Given the description of an element on the screen output the (x, y) to click on. 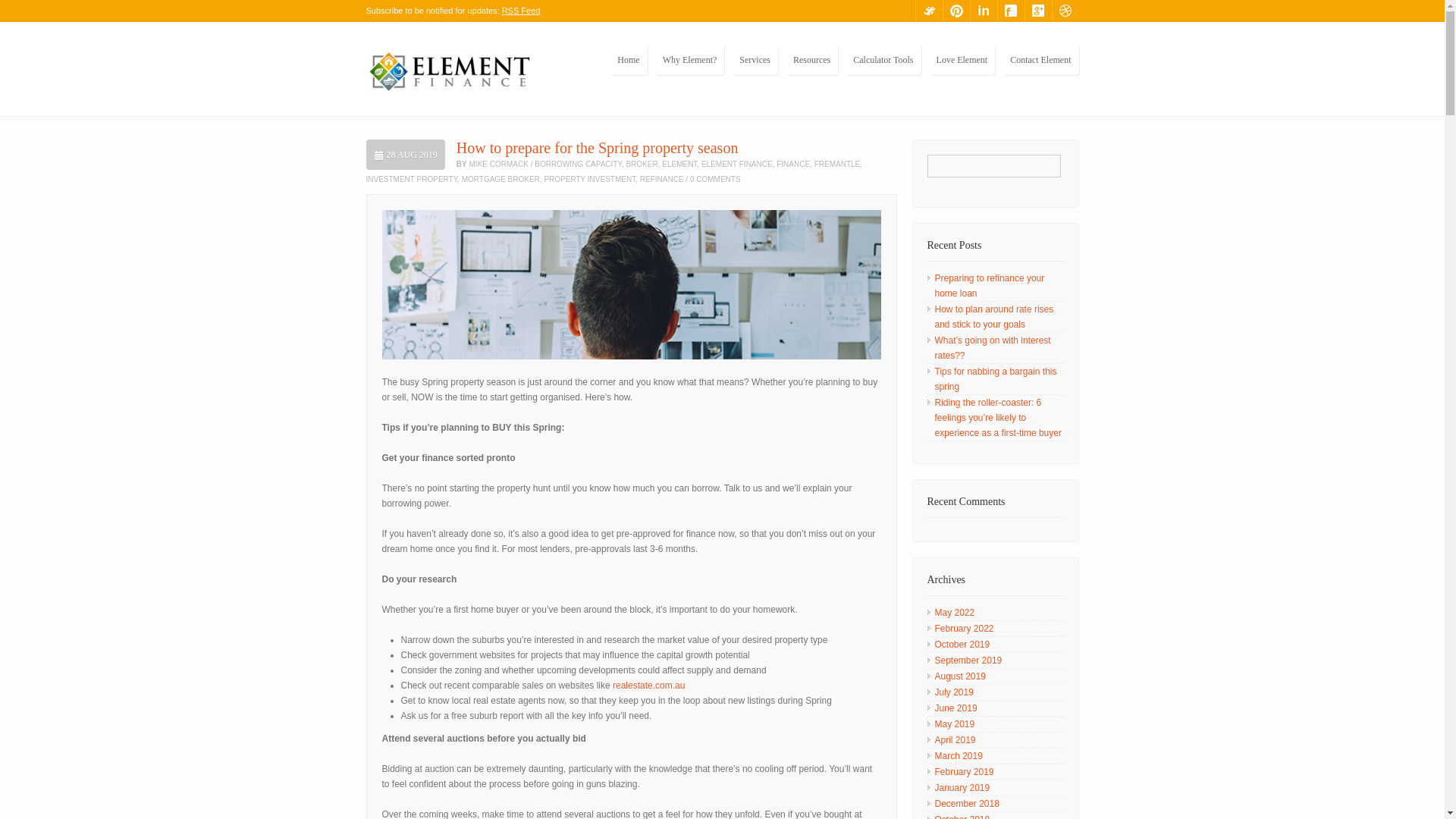
FINANCE (792, 163)
BORROWING CAPACITY (577, 163)
Resources (812, 60)
REFINANCE (662, 179)
Home (628, 60)
BROKER (642, 163)
How to prepare for the Spring property season (597, 147)
MORTGAGE BROKER (500, 179)
Contact Element (1040, 60)
MIKE CORMACK (498, 163)
